Given the description of an element on the screen output the (x, y) to click on. 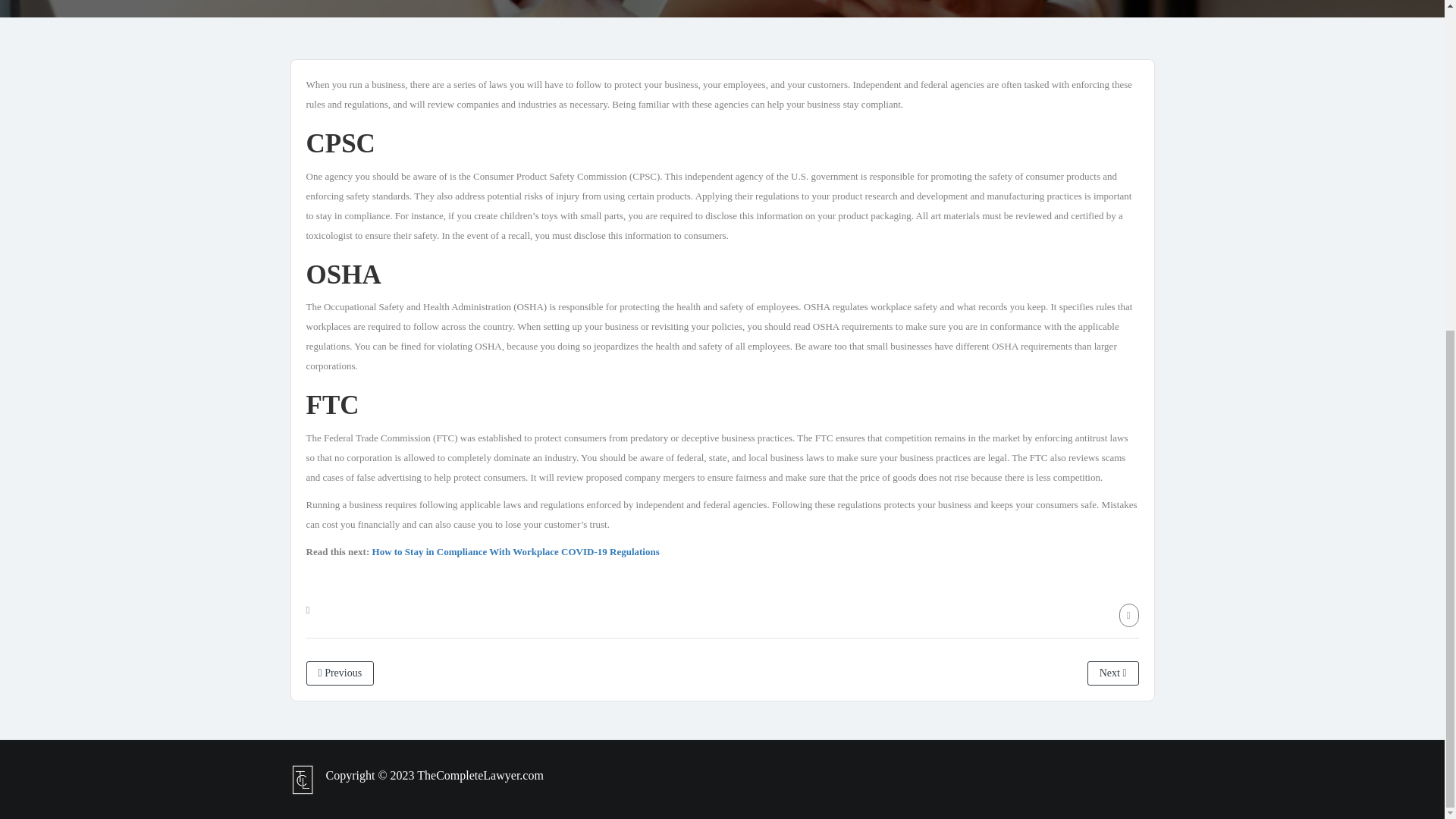
Next (1112, 672)
was established to protect consumers (533, 437)
regulates workplace safety (884, 306)
Previous (339, 672)
is important to stay in compliance (718, 205)
